Given the description of an element on the screen output the (x, y) to click on. 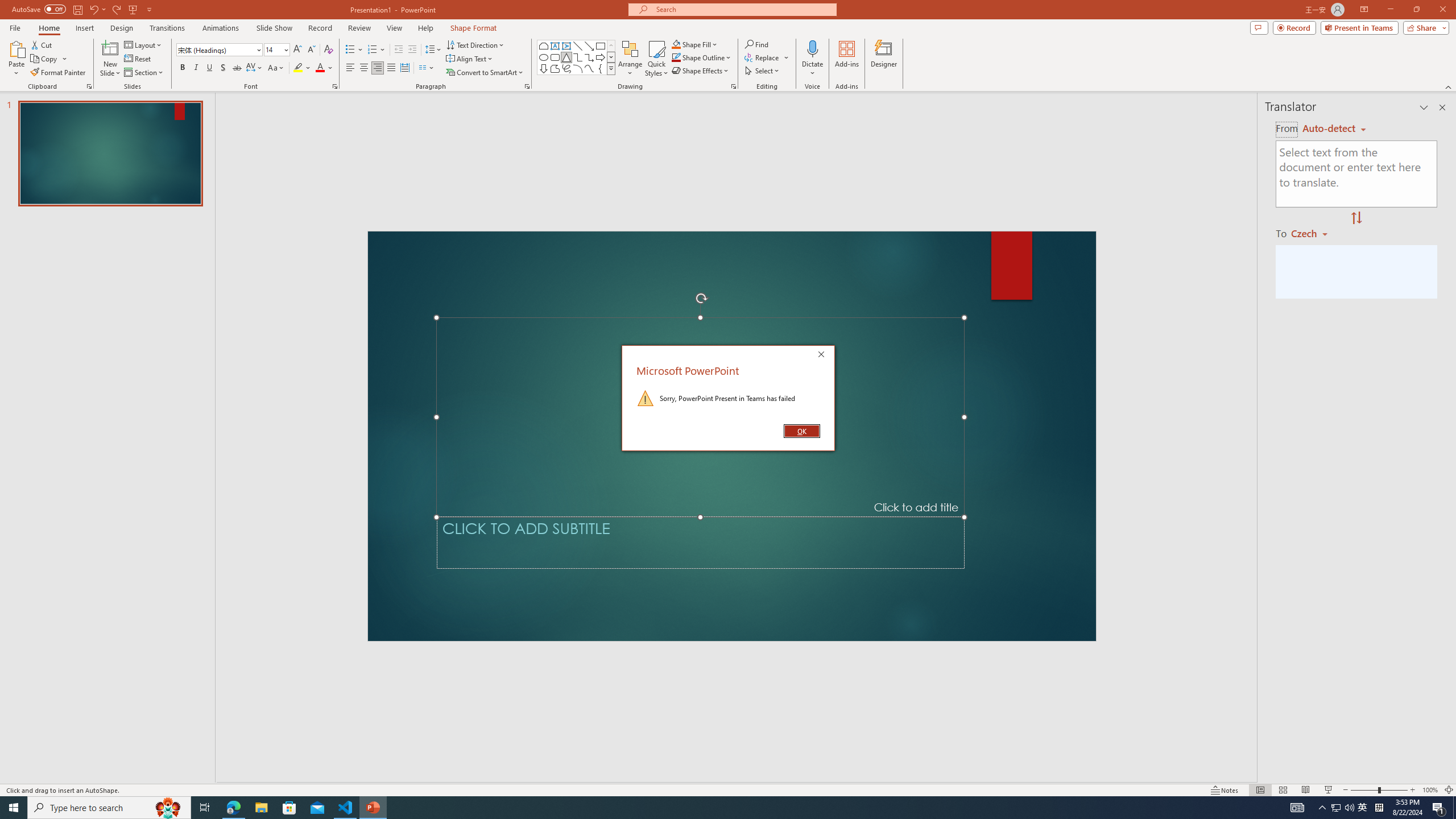
Rectangle: Top Corners Snipped (543, 45)
